Given the description of an element on the screen output the (x, y) to click on. 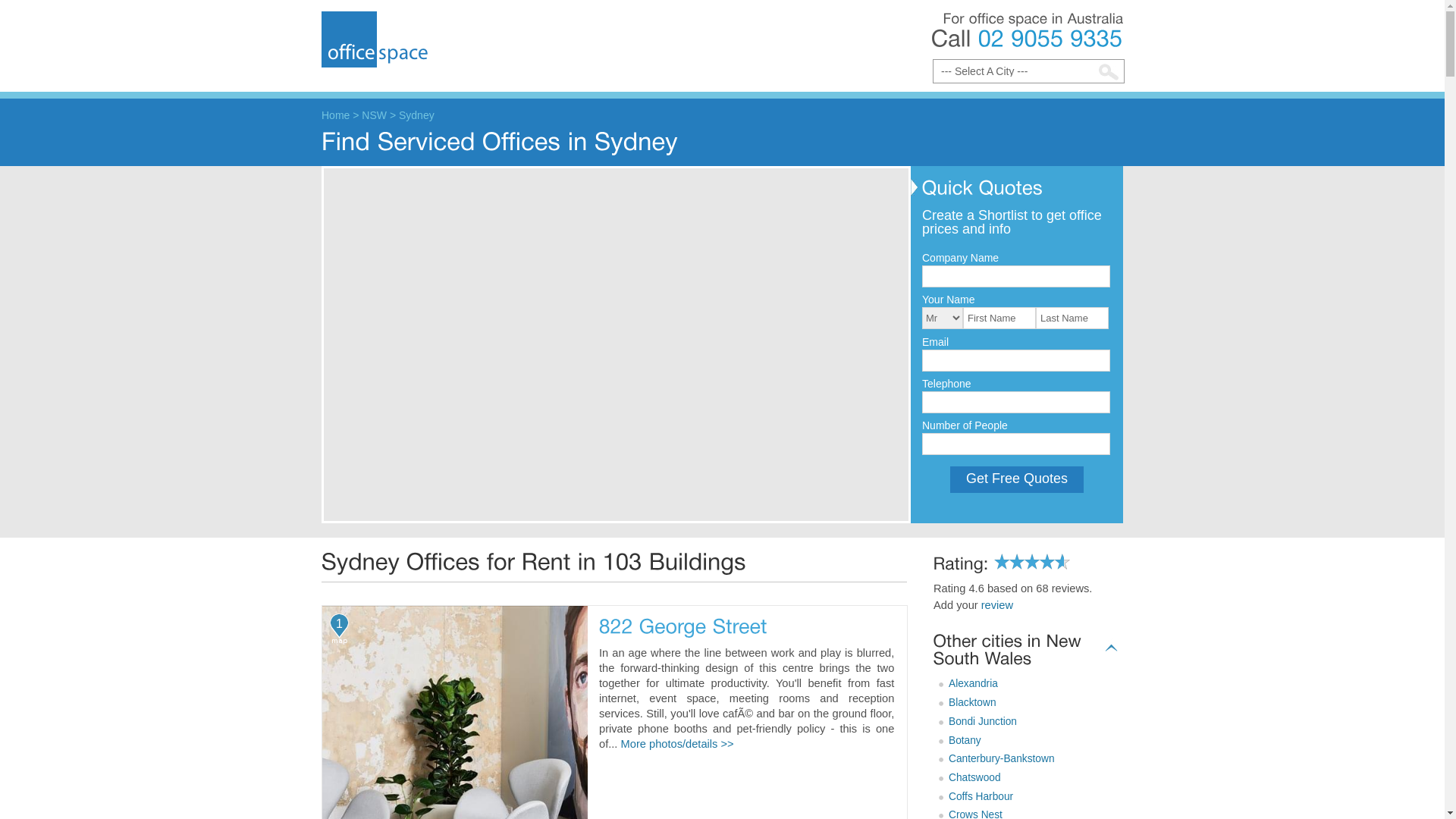
Home Element type: text (335, 115)
Blacktown Element type: text (967, 702)
1 Element type: text (338, 631)
Create a Shortlist to get office prices and info Element type: text (1011, 221)
Botany Element type: text (959, 739)
Get Free Quotes Element type: text (1016, 479)
Chatswood Element type: text (969, 777)
NSW Element type: text (373, 115)
More photos/details >> Element type: text (677, 743)
Canterbury-Bankstown Element type: text (996, 758)
Coffs Harbour Element type: text (975, 796)
Bondi Junction Element type: text (977, 721)
review Element type: text (997, 605)
Alexandria Element type: text (967, 683)
